Given the description of an element on the screen output the (x, y) to click on. 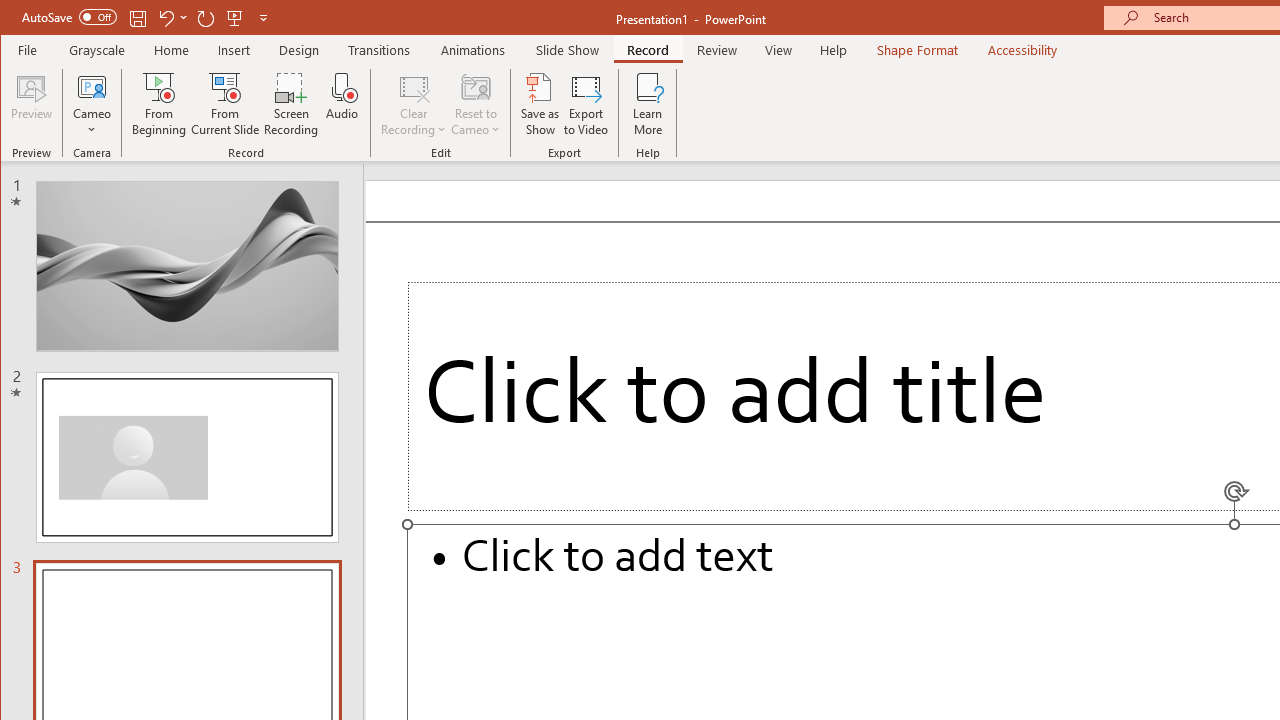
Reset to Cameo (476, 104)
Transitions (379, 50)
Customize Quick Access Toolbar (263, 17)
Review (717, 50)
Redo (206, 17)
